Given the description of an element on the screen output the (x, y) to click on. 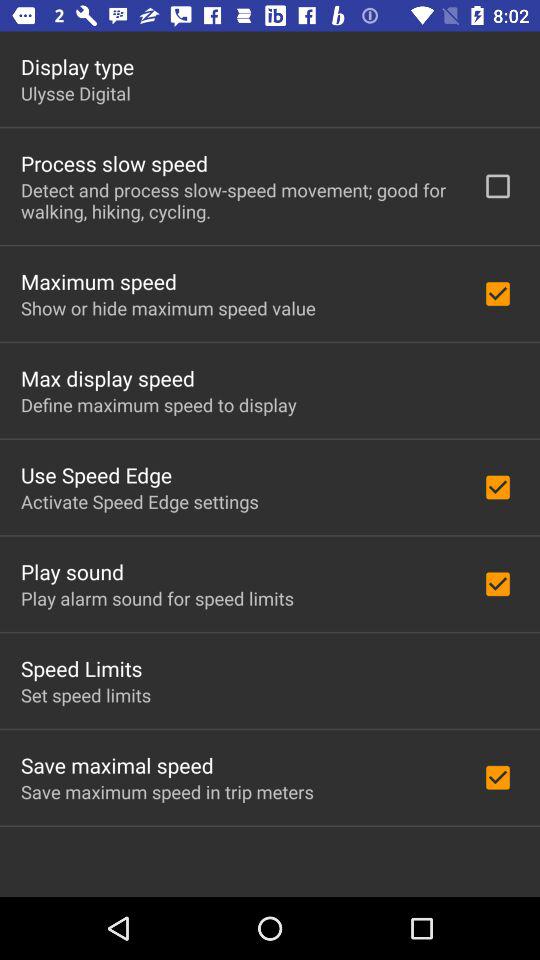
press detect and process icon (238, 200)
